Given the description of an element on the screen output the (x, y) to click on. 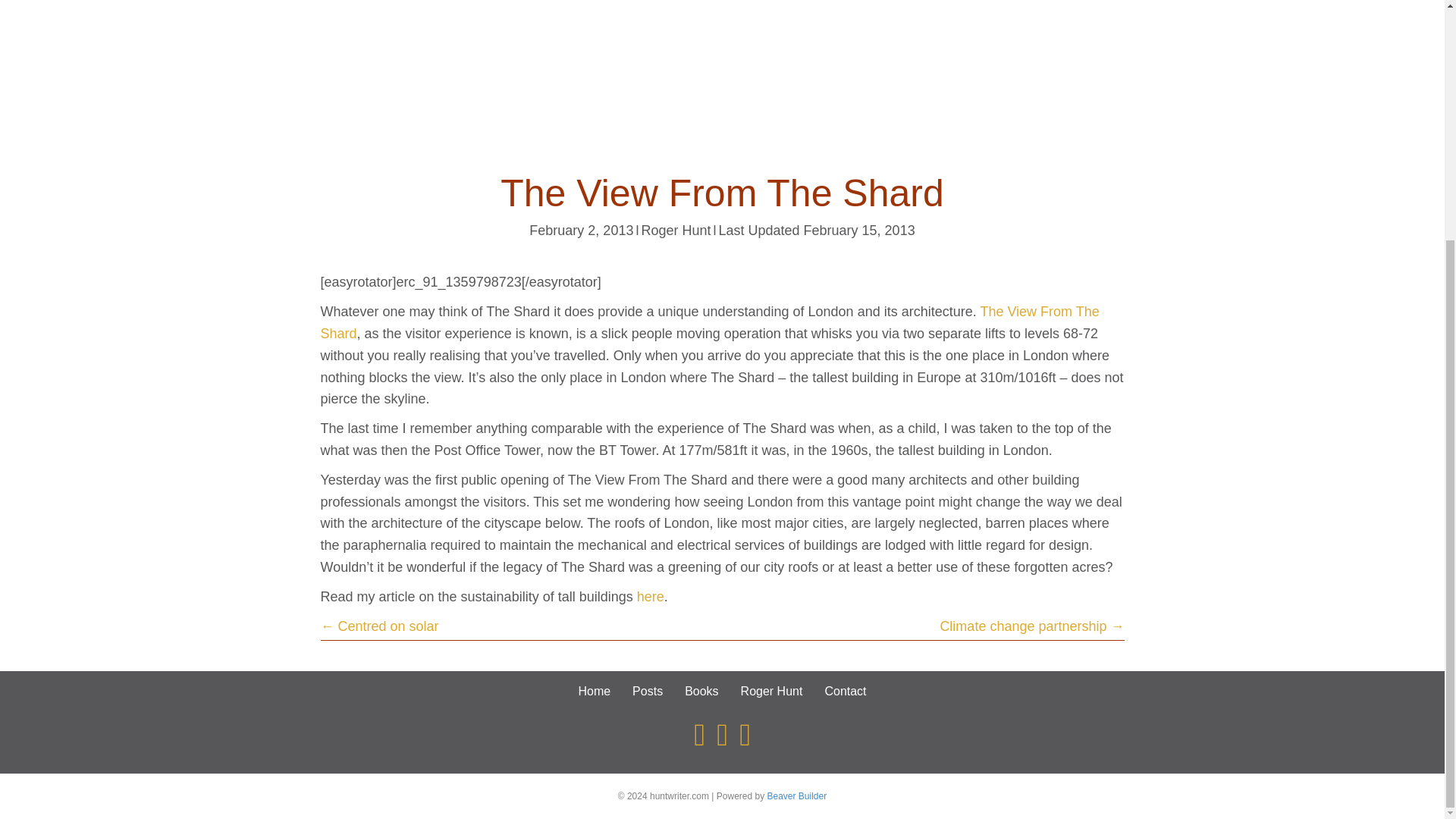
Books (701, 690)
Contact (844, 690)
Posts (646, 690)
The View From The Shard (709, 322)
The View form The Shard (709, 322)
Home (594, 690)
WordPress Page Builder Plugin (797, 796)
Roger Hunt (675, 230)
Beaver Builder (797, 796)
here (650, 596)
